Given the description of an element on the screen output the (x, y) to click on. 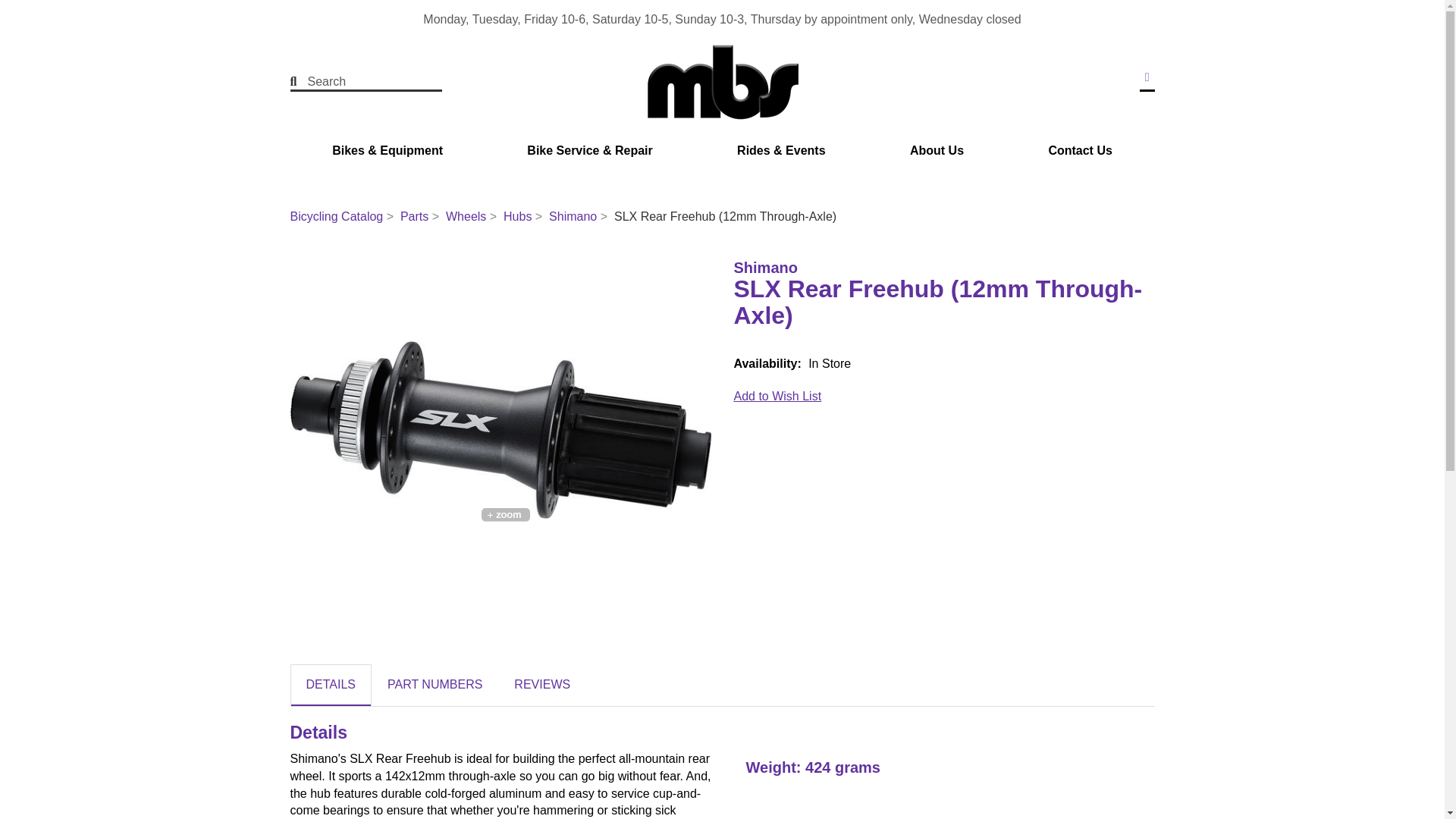
Store (1147, 76)
Search (356, 81)
Search (298, 81)
Store (1147, 76)
Montrose Bike Shop Home Page (721, 81)
